Given the description of an element on the screen output the (x, y) to click on. 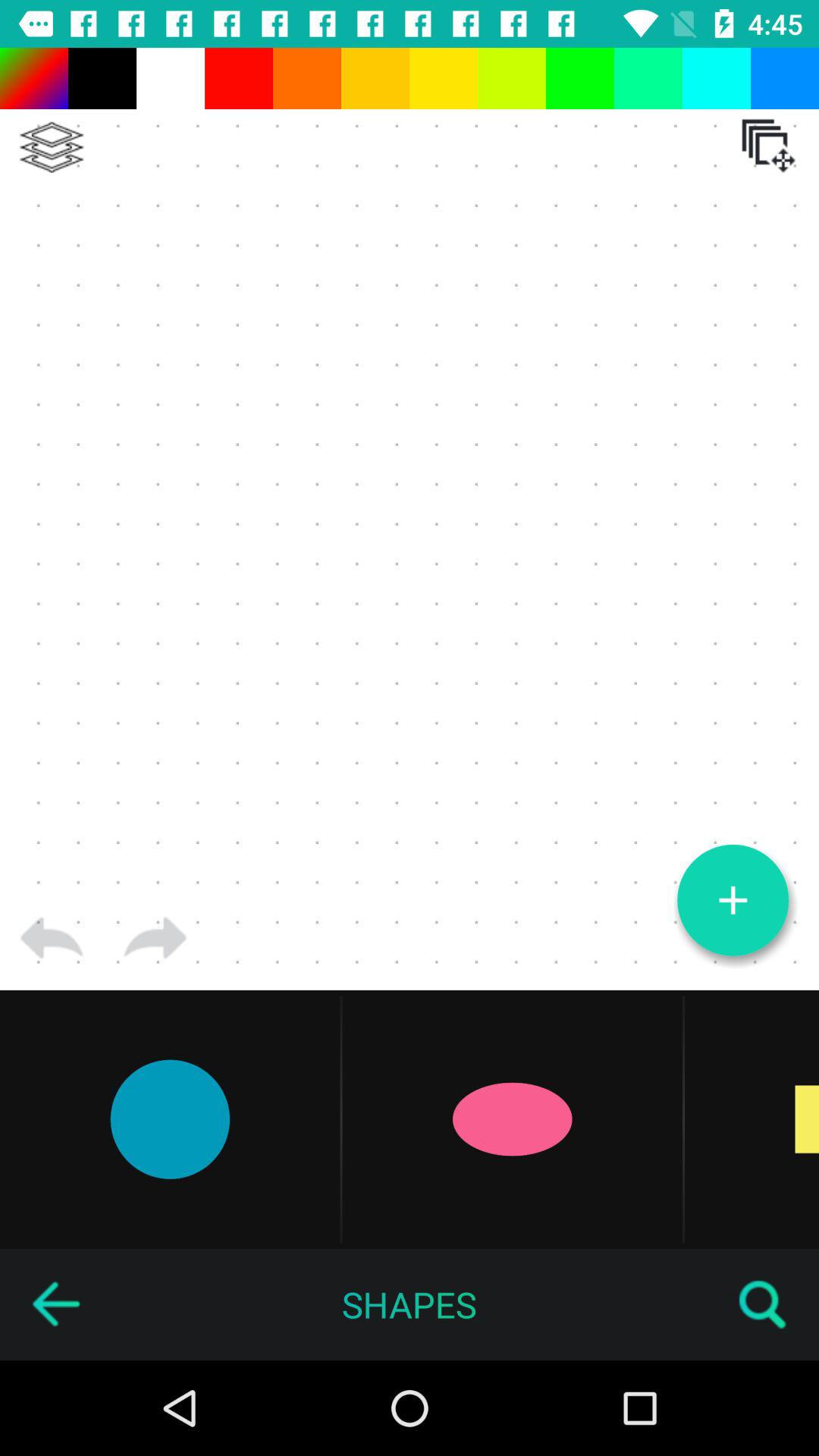
toggle new object (733, 900)
